Given the description of an element on the screen output the (x, y) to click on. 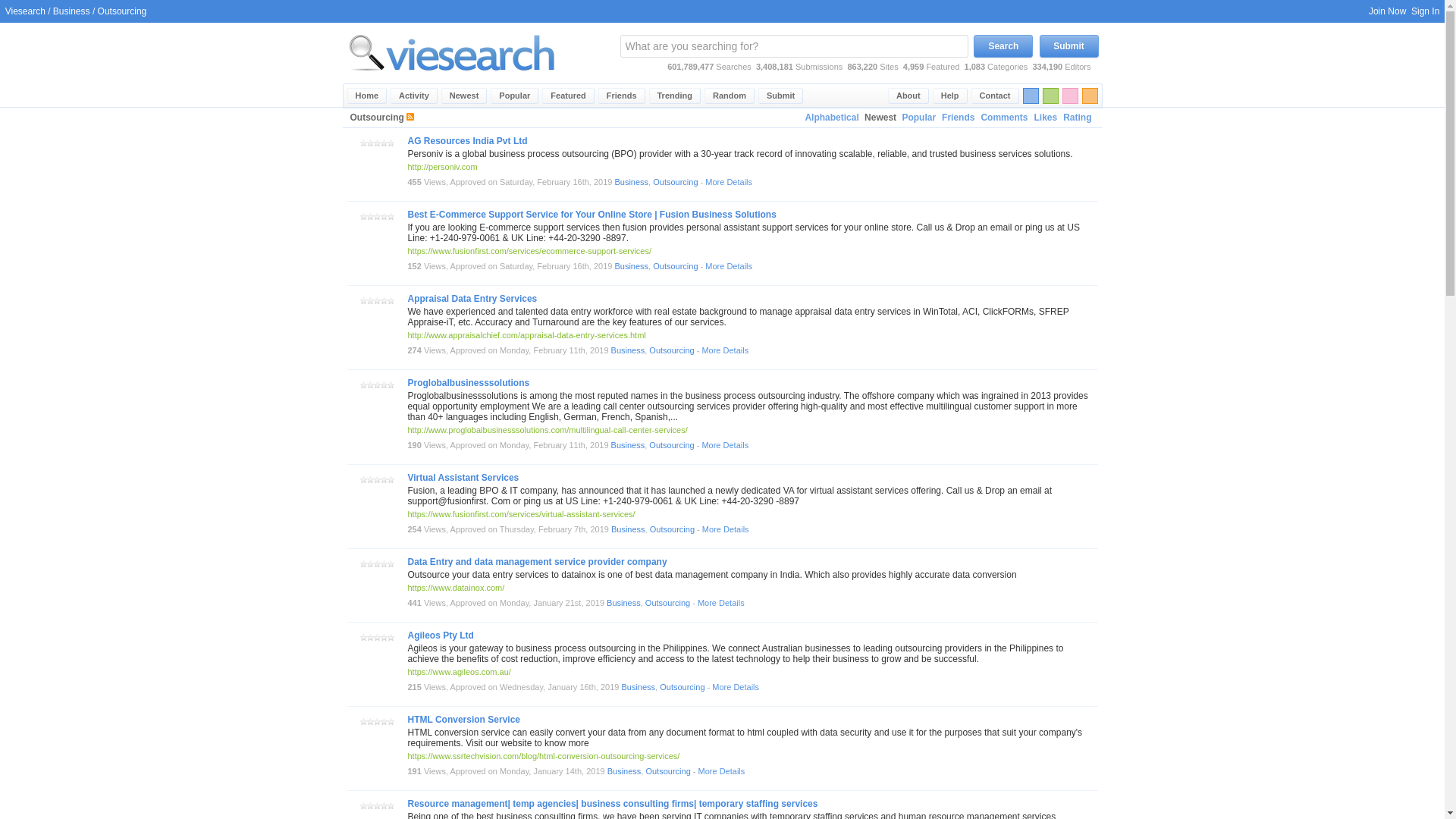
Random (729, 95)
Business (71, 10)
Activity (414, 95)
View a random site (729, 95)
Viesearch (25, 10)
Trending search keywords on Viesearch (674, 95)
Sign In (1424, 10)
Submit a new site (780, 95)
Recent social activity (414, 95)
AG Resources India Pvt Ltd (467, 140)
Contact Viesearch (995, 95)
About (908, 95)
Friends (957, 117)
Viesearch (367, 95)
